Given the description of an element on the screen output the (x, y) to click on. 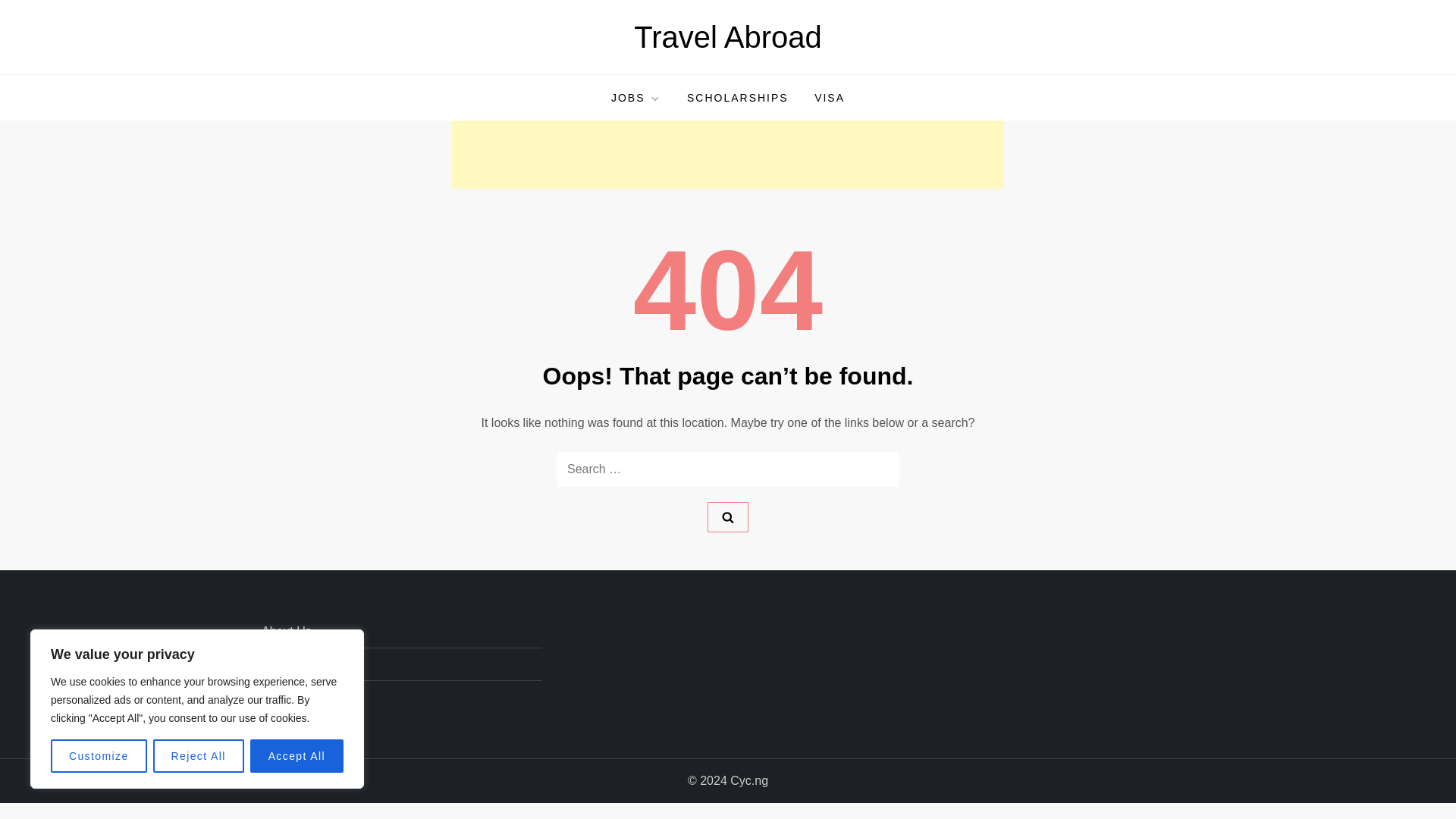
Contact Us (291, 663)
Advertisement (727, 154)
Search (727, 517)
Travel Abroad (727, 37)
Accept All (296, 756)
JOBS (635, 97)
VISA (829, 97)
SCHOLARSHIPS (737, 97)
Reject All (198, 756)
Customize (98, 756)
About Us (286, 631)
Privacy Policy (299, 696)
